Given the description of an element on the screen output the (x, y) to click on. 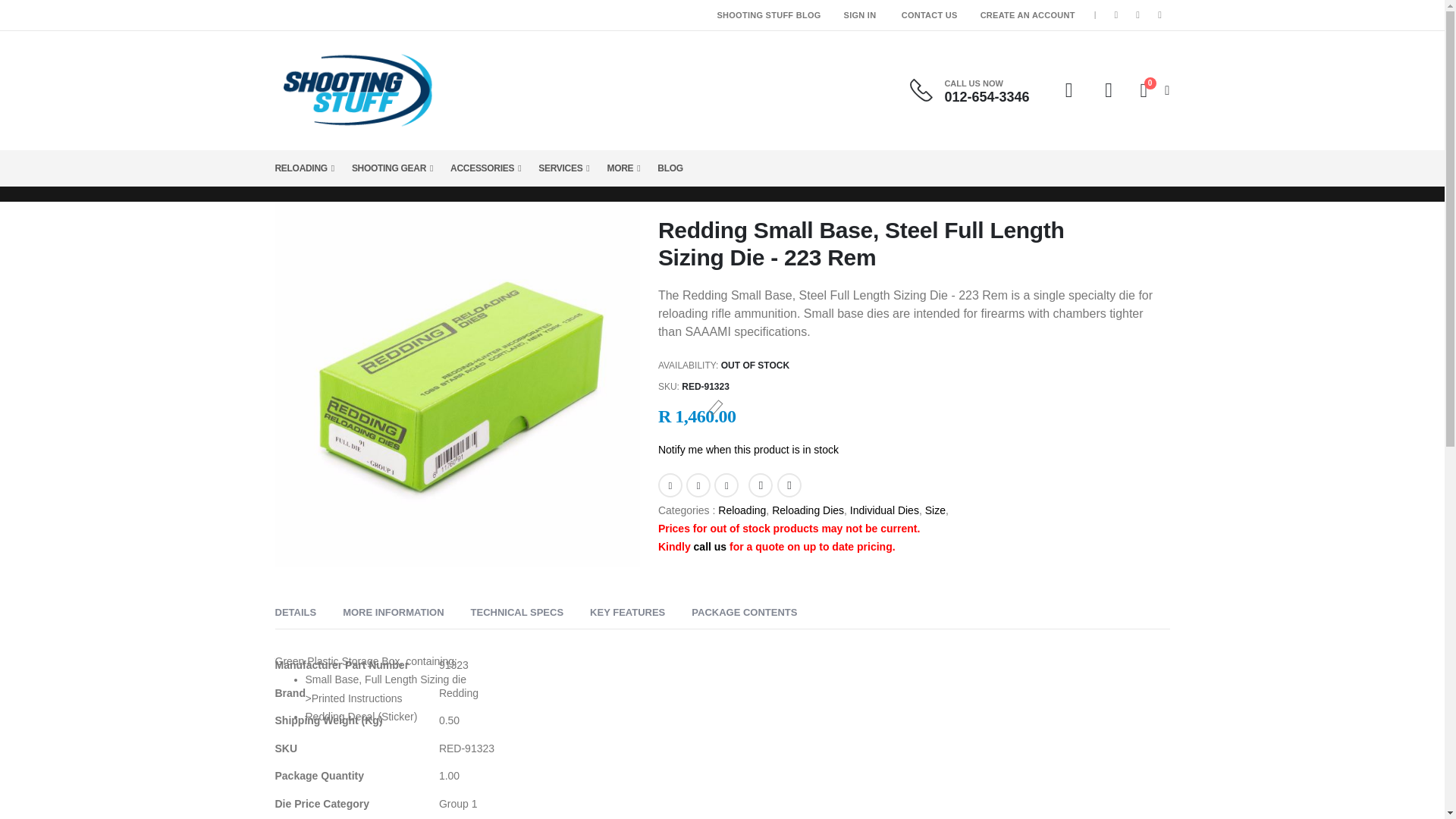
Wishlist (1109, 90)
SHOOTING STUFF BLOG (767, 14)
YouTube (1160, 14)
Shooting Stuff (355, 90)
012-654-3346 (986, 97)
Instagram (1151, 90)
CONTACT US (1138, 14)
My Account (929, 14)
RELOADING (1068, 90)
